Given the description of an element on the screen output the (x, y) to click on. 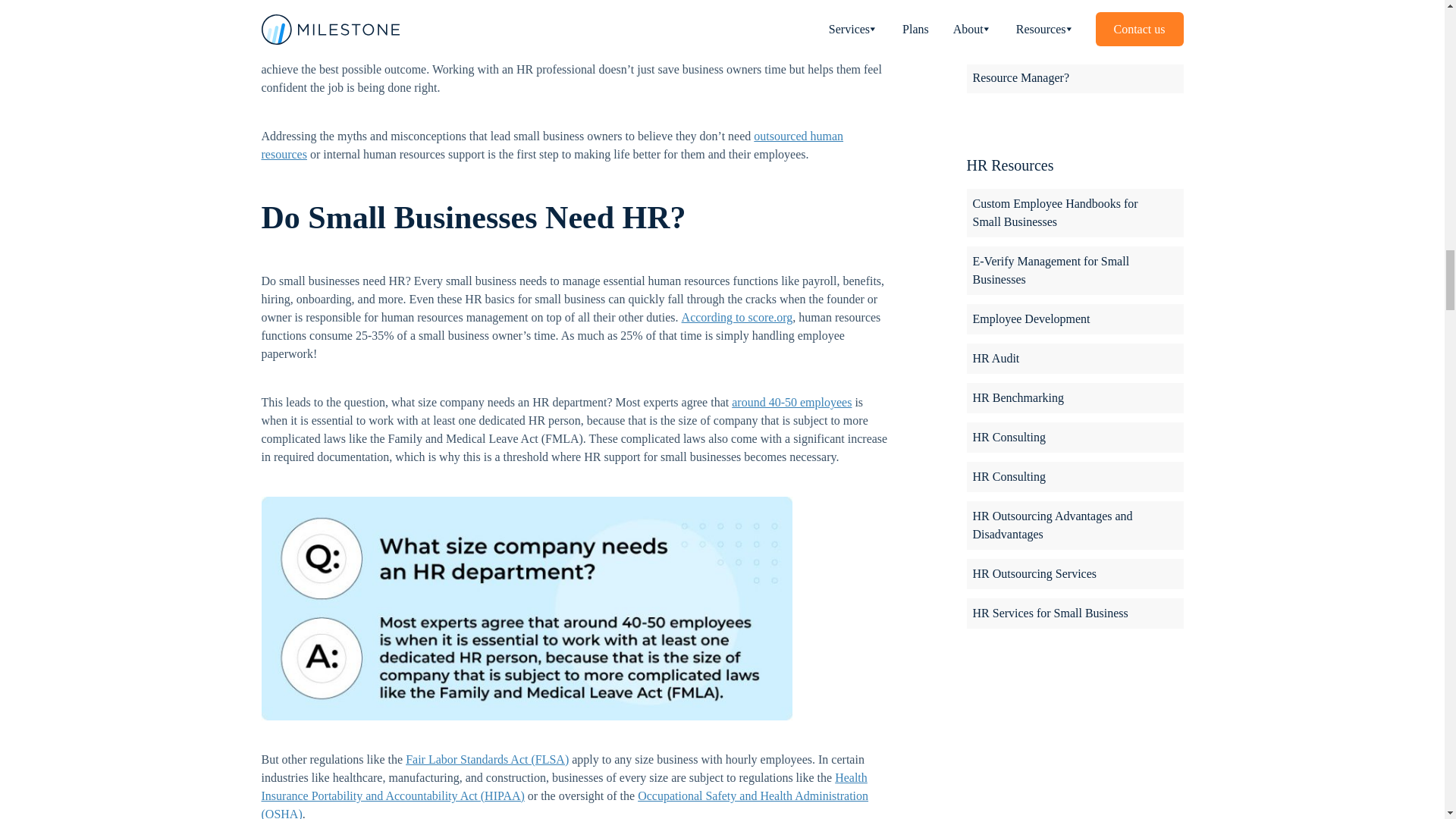
HR Consulting (1074, 437)
HR Consulting (1074, 476)
What Are the Functions of a Human Resource Manager? (1074, 69)
HR Audit (1074, 358)
HR Outsourcing Advantages and Disadvantages (1074, 525)
E-Verify Management for Small Businesses (1074, 270)
Employee Development (1074, 318)
HR Benchmarking (1074, 398)
HR Services for Small Business (1074, 613)
HR Outsourcing Services (1074, 573)
What HR Services Can Be Outsourced? (1074, 18)
Custom Employee Handbooks for Small Businesses (1074, 213)
